Given the description of an element on the screen output the (x, y) to click on. 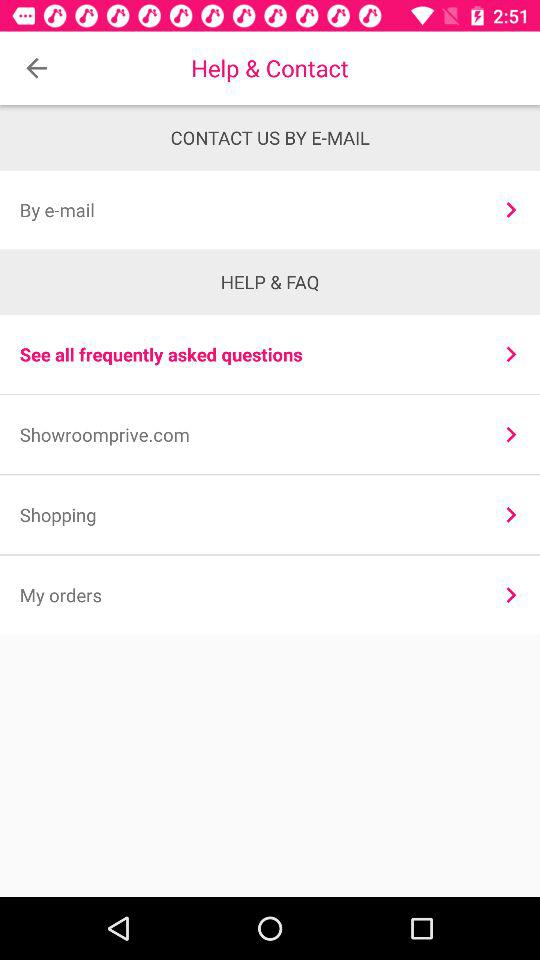
turn on the see all frequently item (247, 354)
